Given the description of an element on the screen output the (x, y) to click on. 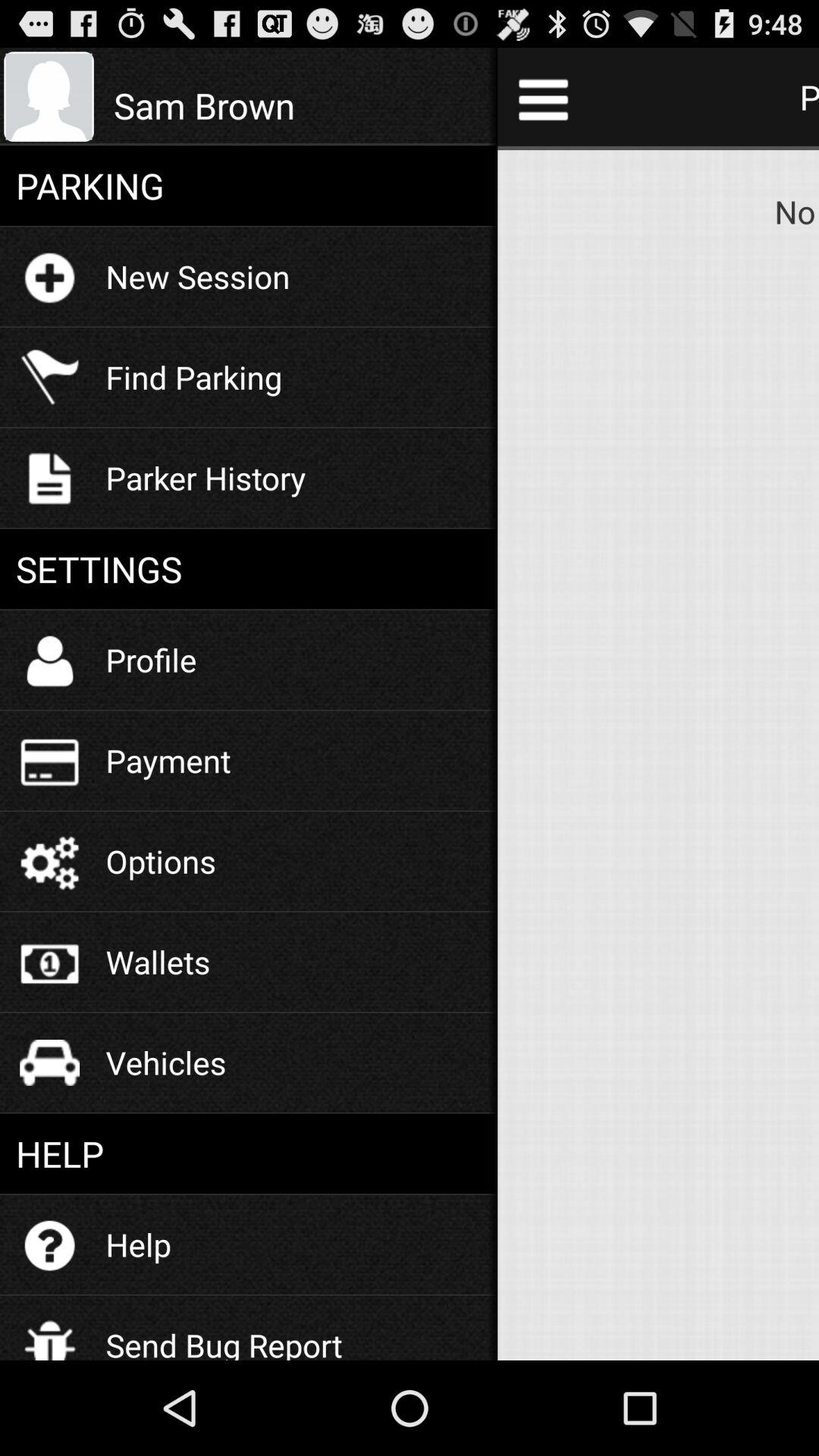
press the icon below the payment (160, 860)
